Given the description of an element on the screen output the (x, y) to click on. 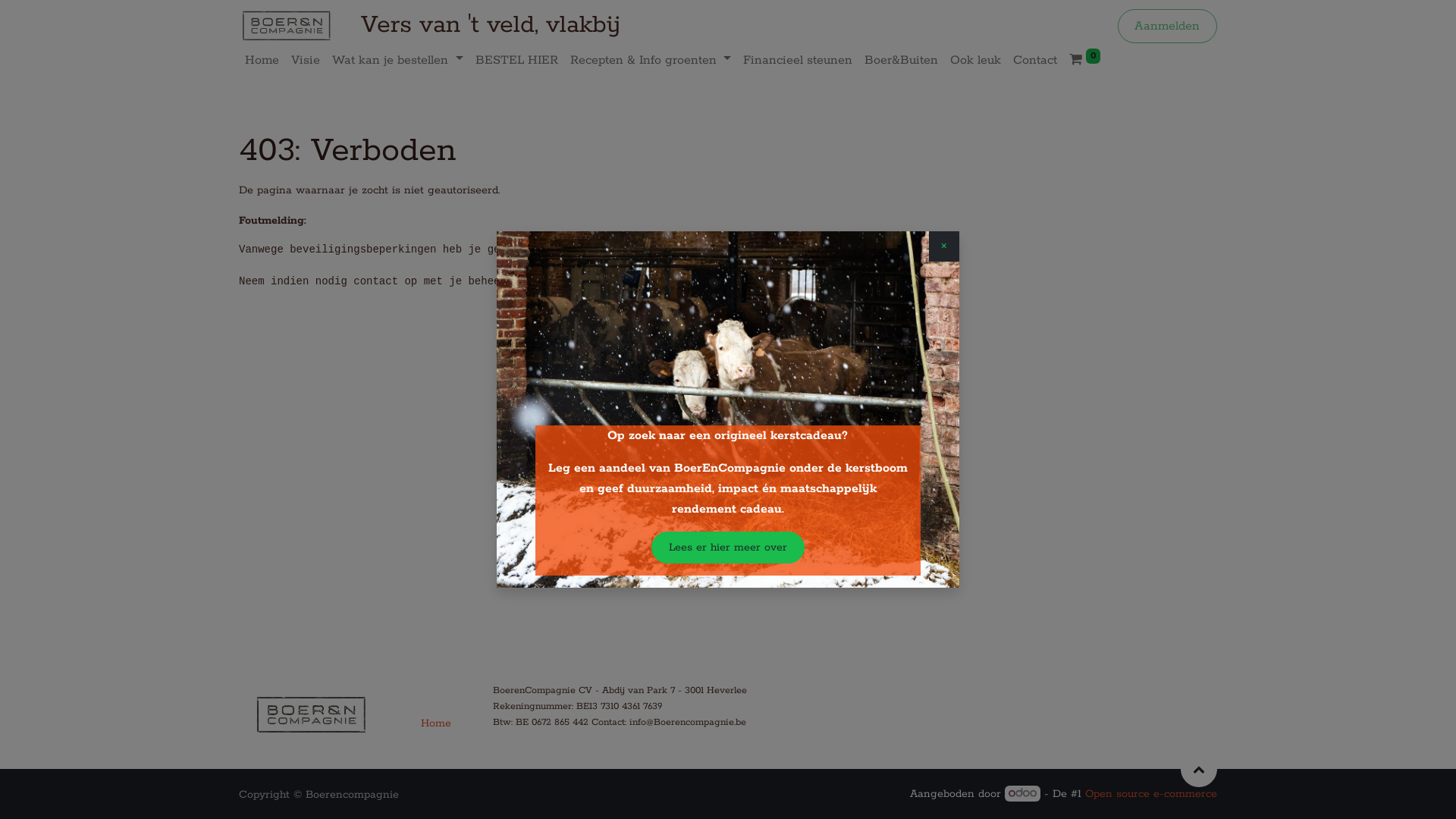
Home Element type: text (261, 59)
BoerEnCompagnie Element type: hover (285, 25)
Aanmelden Element type: text (1167, 26)
Wat kan je bestellen Element type: text (397, 59)
BESTEL HIER Element type: text (516, 59)
Boer&Buiten Element type: text (901, 59)
Open source e-commerce Element type: text (1151, 793)
0 Element type: text (1084, 59)
Lees er hier meer over Element type: text (727, 547)
My company Element type: hover (310, 717)
Home Element type: text (437, 723)
Financieel steunen Element type: text (797, 59)
Ook leuk Element type: text (975, 59)
Contact Element type: text (1035, 59)
Visie Element type: text (305, 59)
Scroll up Element type: hover (1198, 768)
Recepten & Info groenten Element type: text (650, 59)
